Given the description of an element on the screen output the (x, y) to click on. 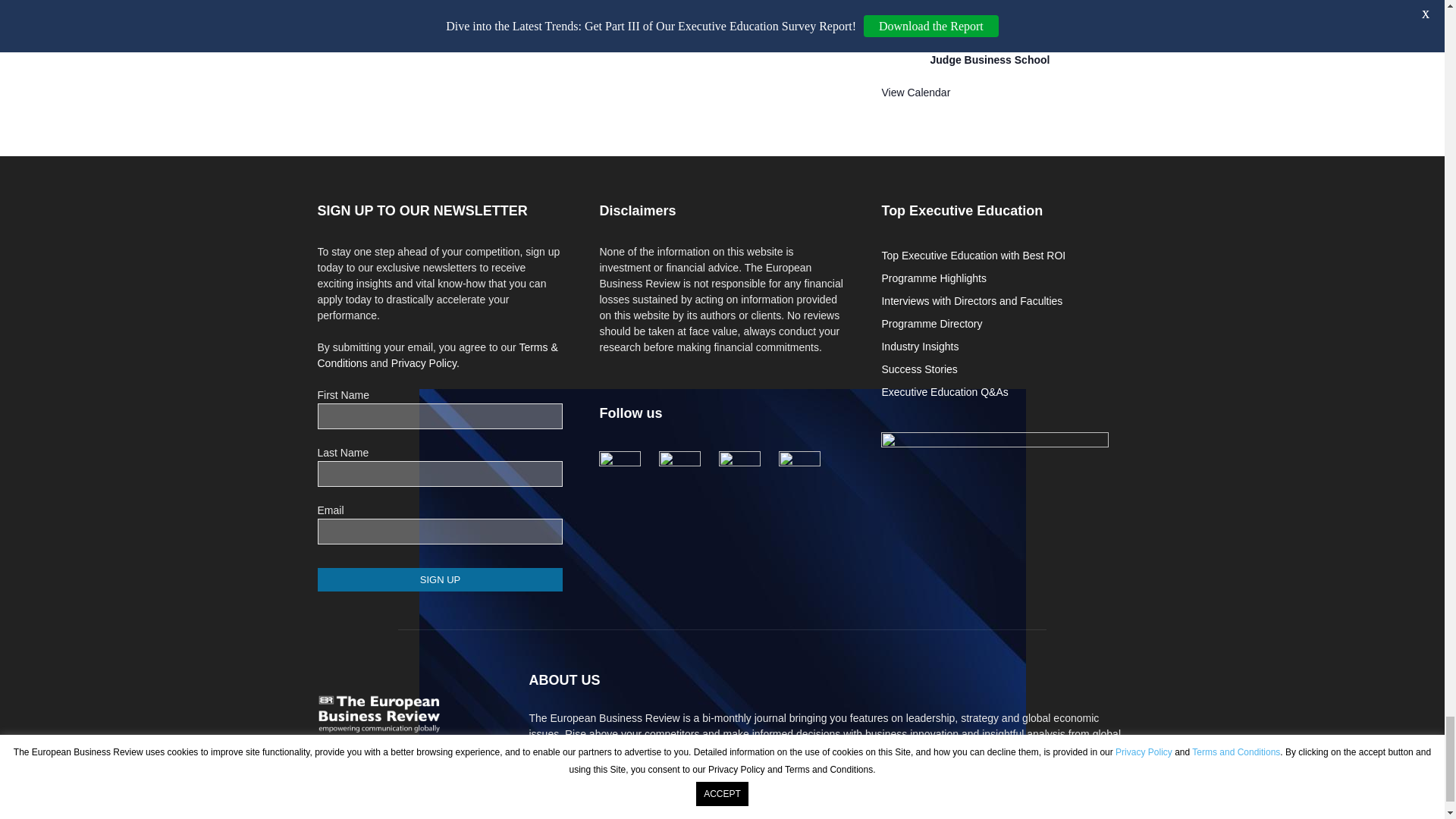
SIGN UP (439, 579)
